Given the description of an element on the screen output the (x, y) to click on. 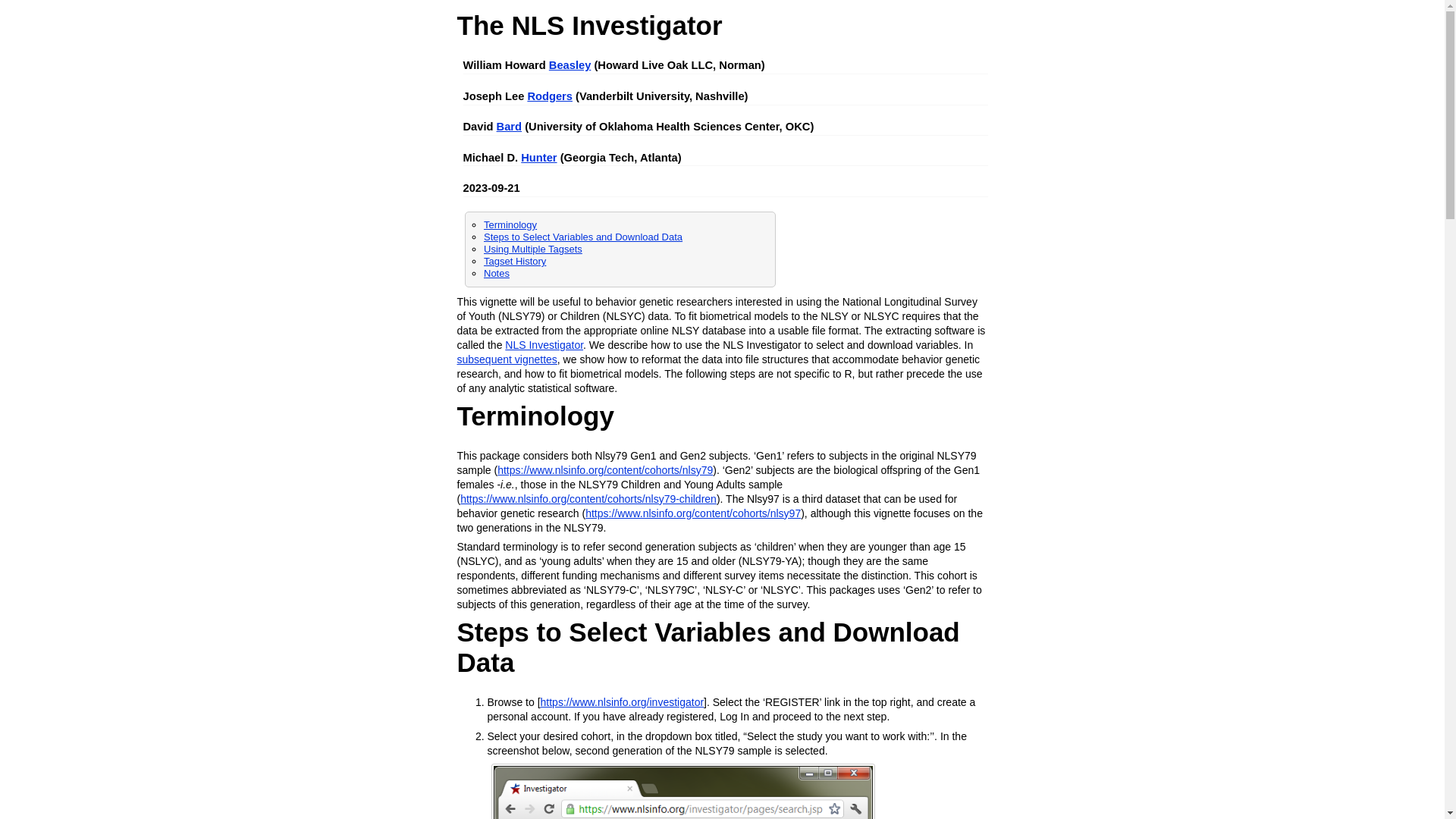
Terminology (510, 224)
Beasley (569, 64)
Bard (508, 126)
NLS Investigator (544, 345)
Notes (496, 273)
Using Multiple Tagsets (532, 248)
Rodgers (549, 96)
Hunter (538, 157)
Tagset History (514, 260)
subsequent vignettes (506, 358)
